Given the description of an element on the screen output the (x, y) to click on. 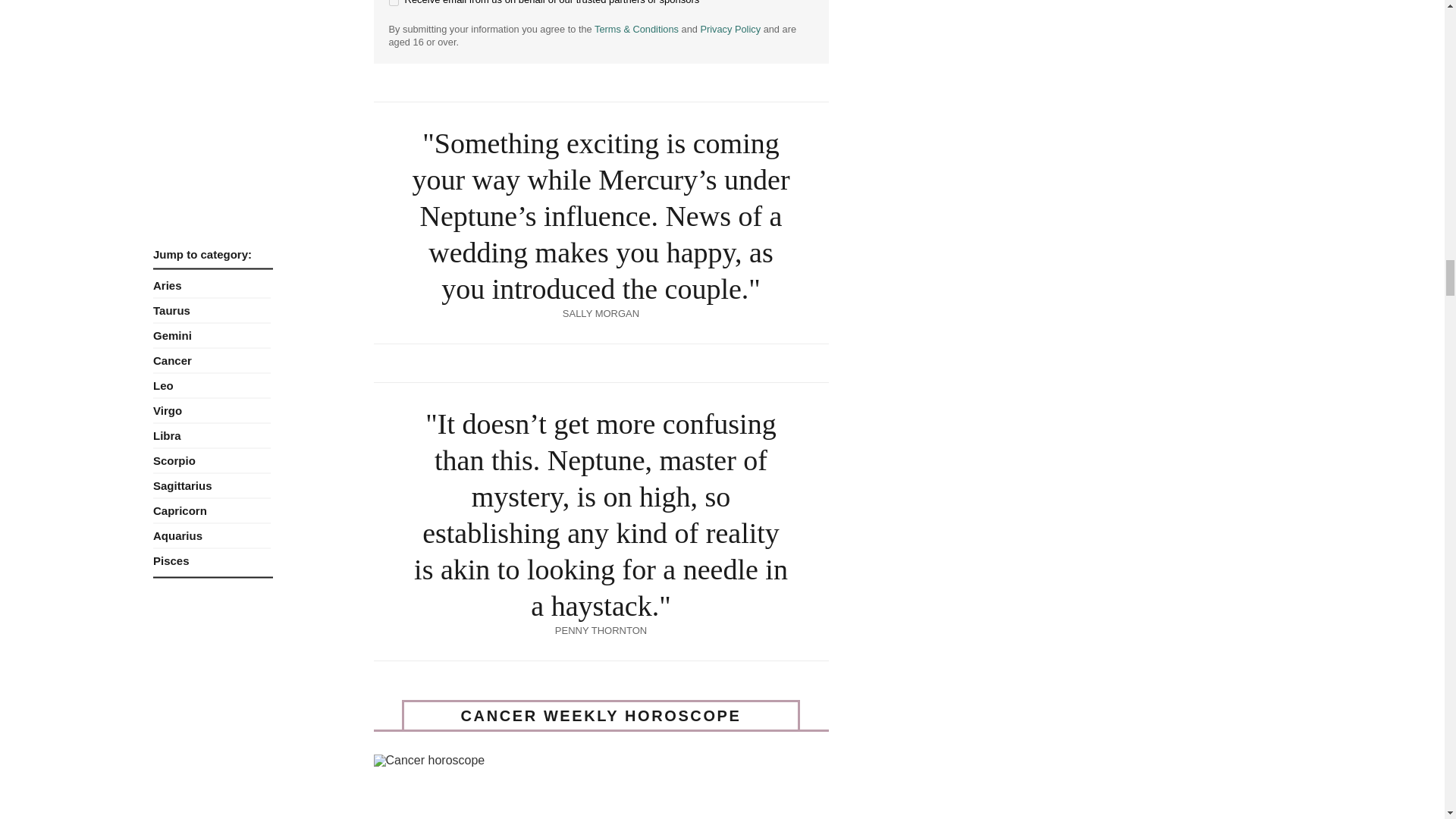
on (392, 2)
